Given the description of an element on the screen output the (x, y) to click on. 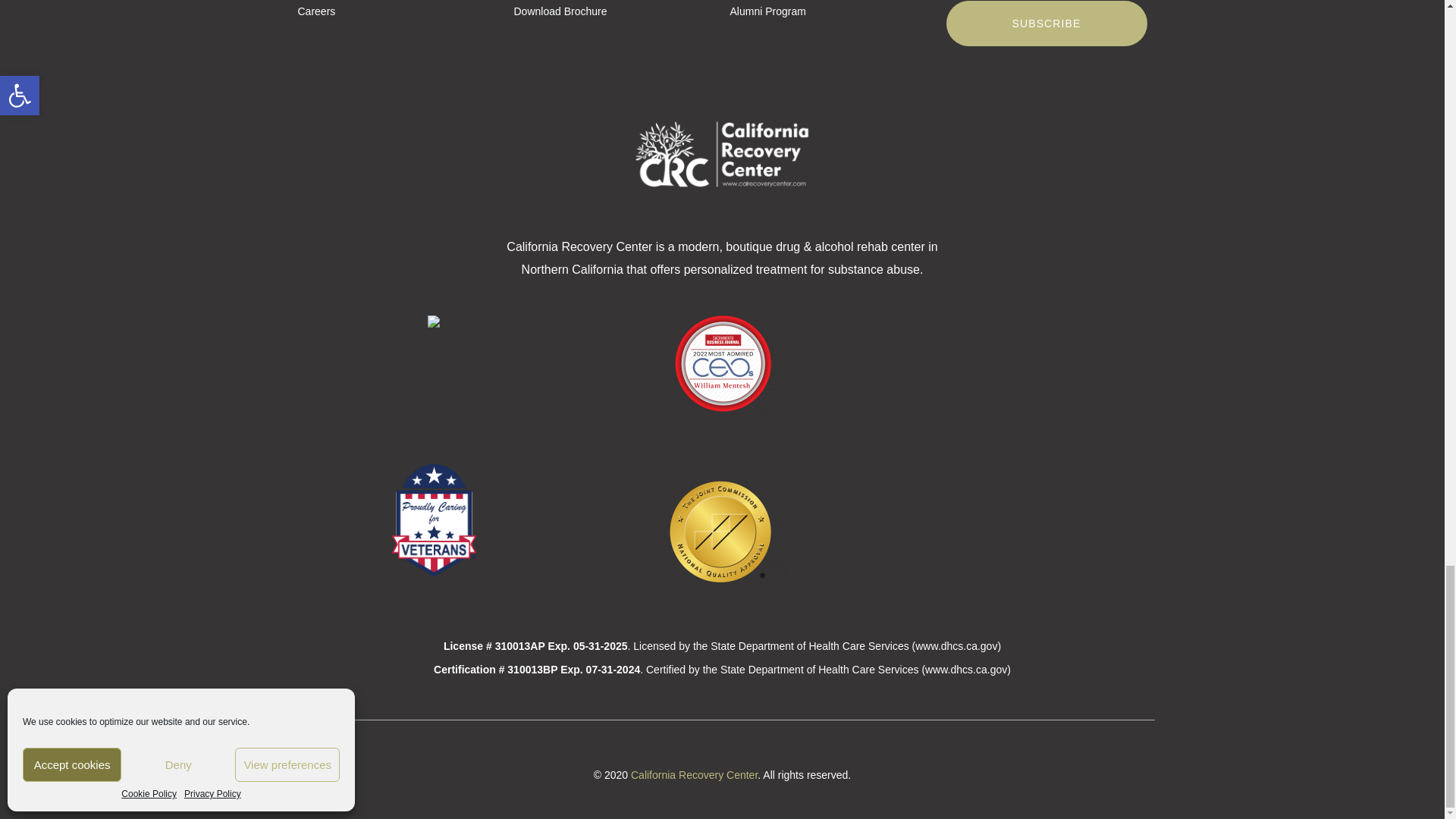
The Joint Commision Emblem (722, 530)
MACEO badge (721, 363)
